Given the description of an element on the screen output the (x, y) to click on. 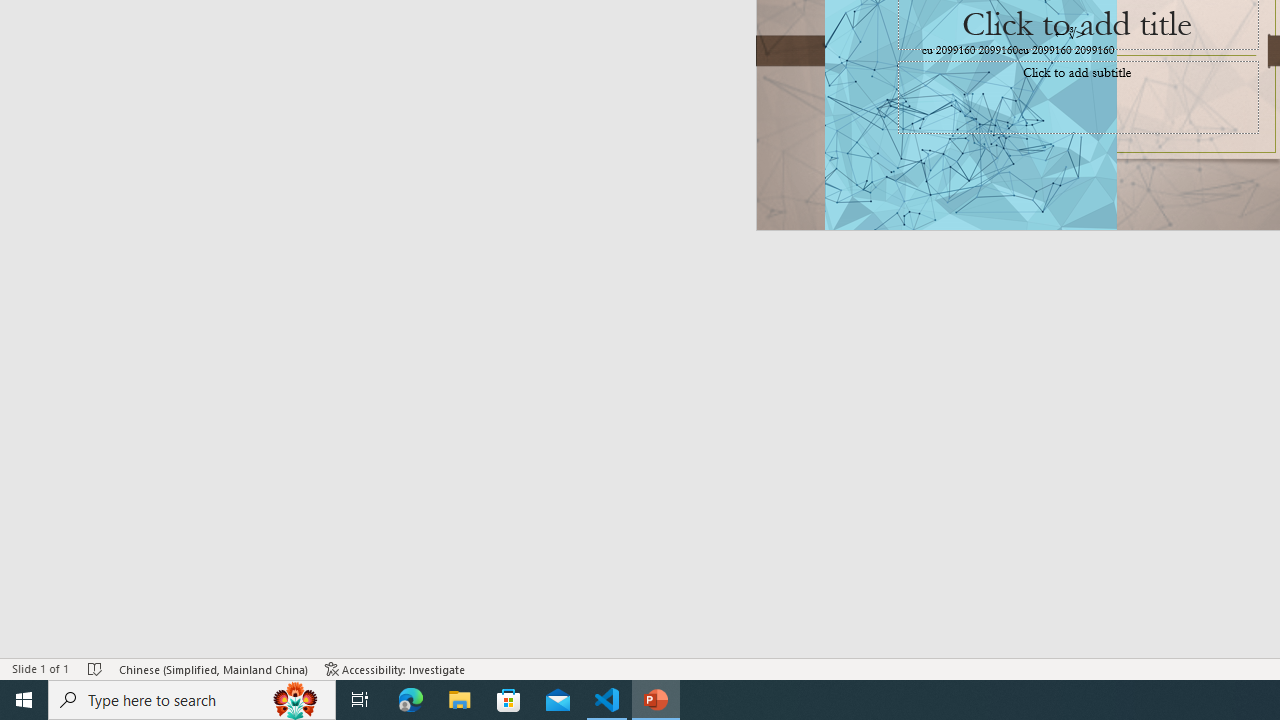
TextBox 7 (1069, 33)
TextBox 61 (1074, 51)
